Given the description of an element on the screen output the (x, y) to click on. 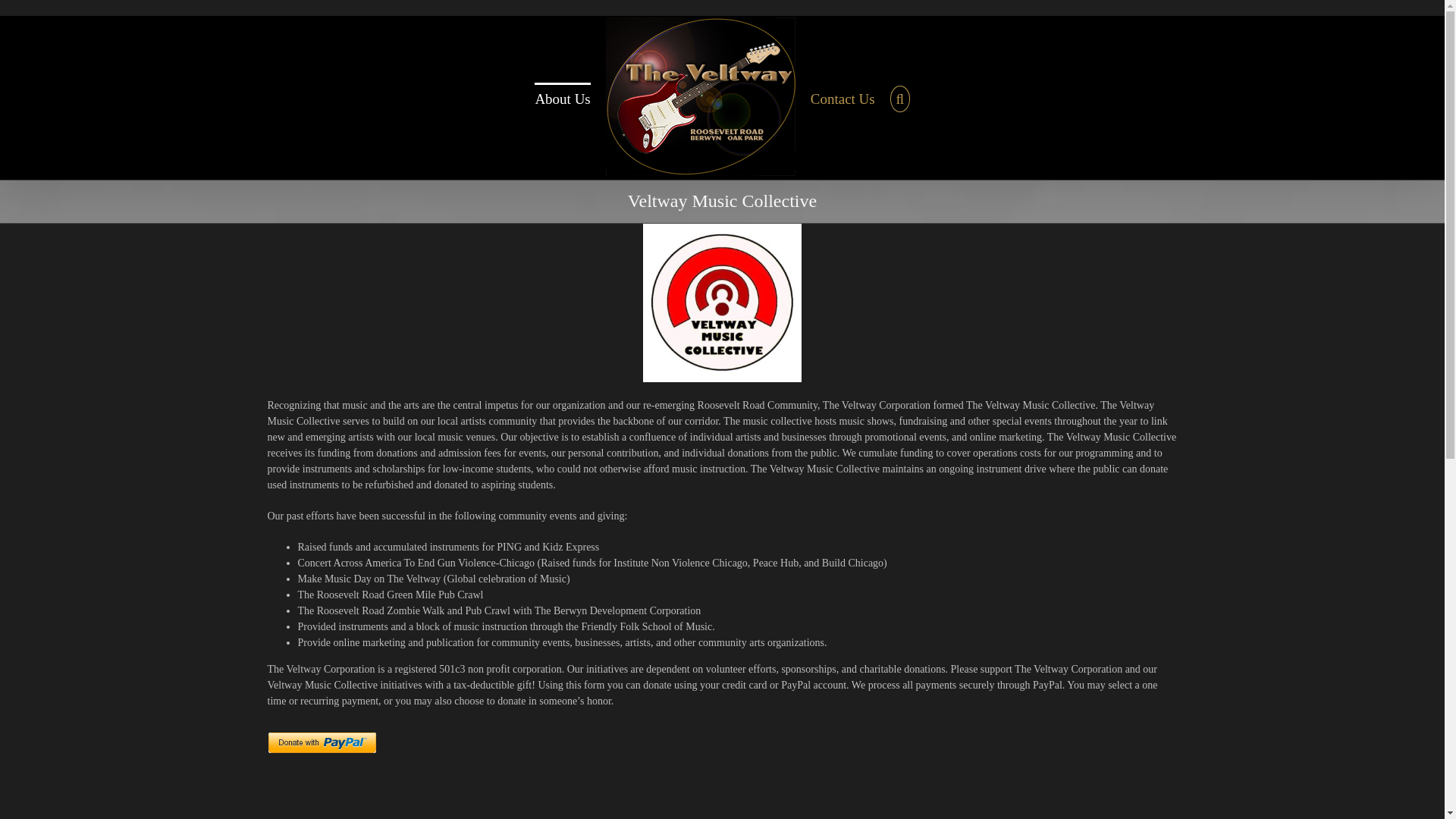
About Us (561, 97)
Contact Us (842, 97)
